Given the description of an element on the screen output the (x, y) to click on. 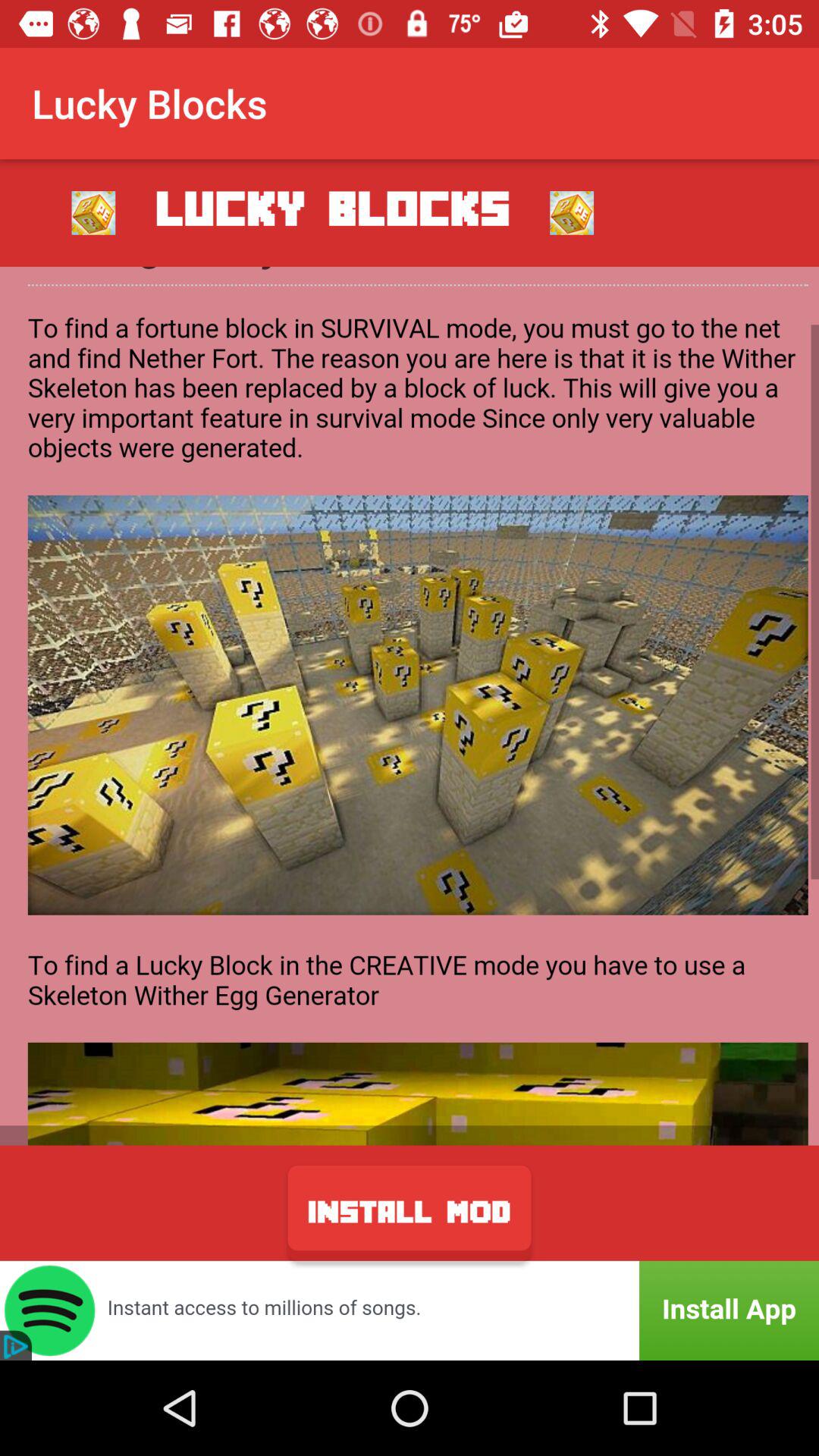
spotify app advertisement on a lucky blocks app (409, 1310)
